Given the description of an element on the screen output the (x, y) to click on. 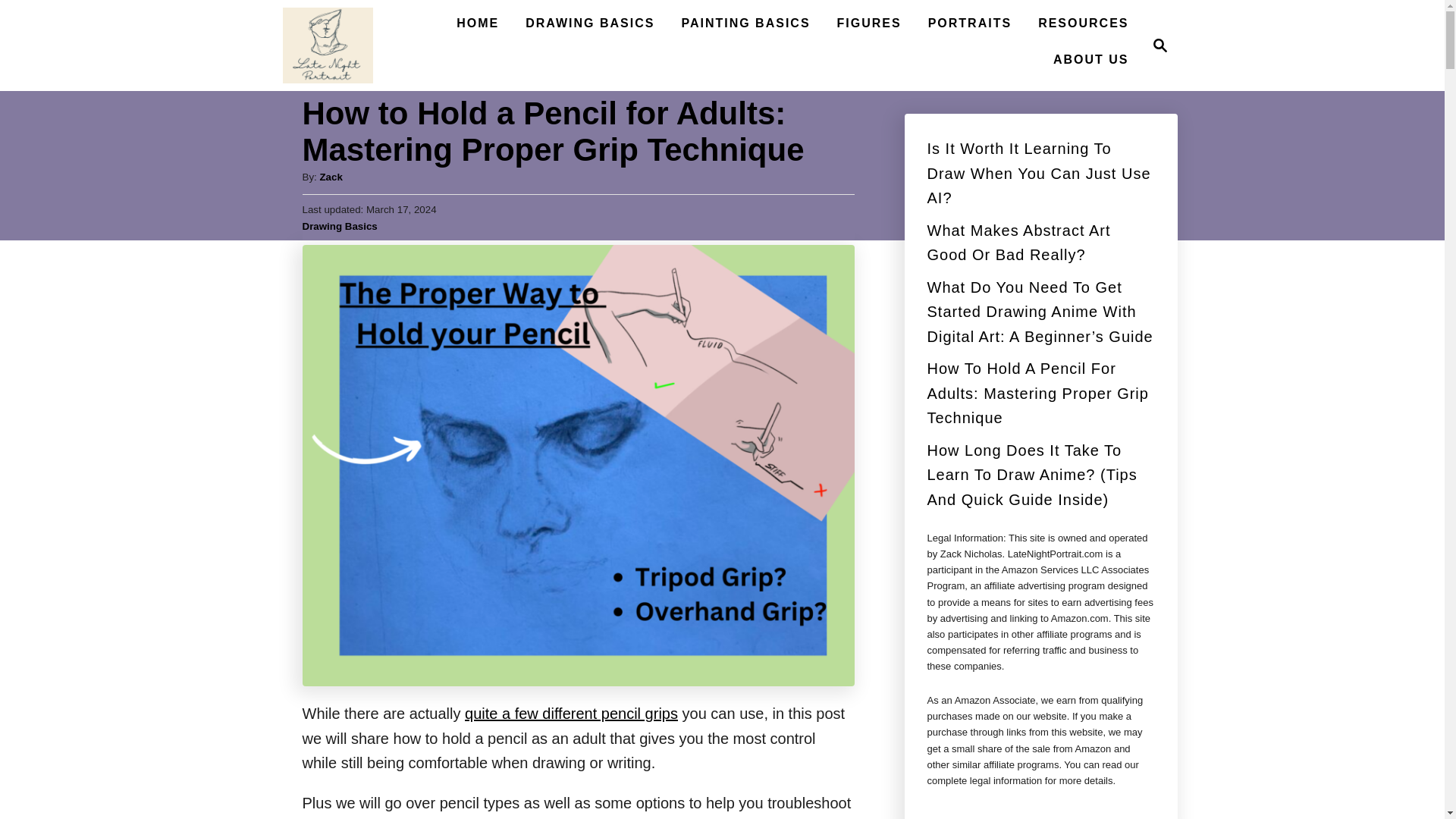
quite a few different pencil grips (571, 713)
FIGURES (868, 23)
PORTRAITS (969, 23)
DRAWING BASICS (590, 23)
PAINTING BASICS (744, 23)
HOME (477, 23)
Magnifying Glass (1160, 45)
Zack (330, 176)
ABOUT US (1091, 59)
RESOURCES (1155, 45)
LateNightPortrait (1082, 23)
Drawing Basics (327, 45)
